Given the description of an element on the screen output the (x, y) to click on. 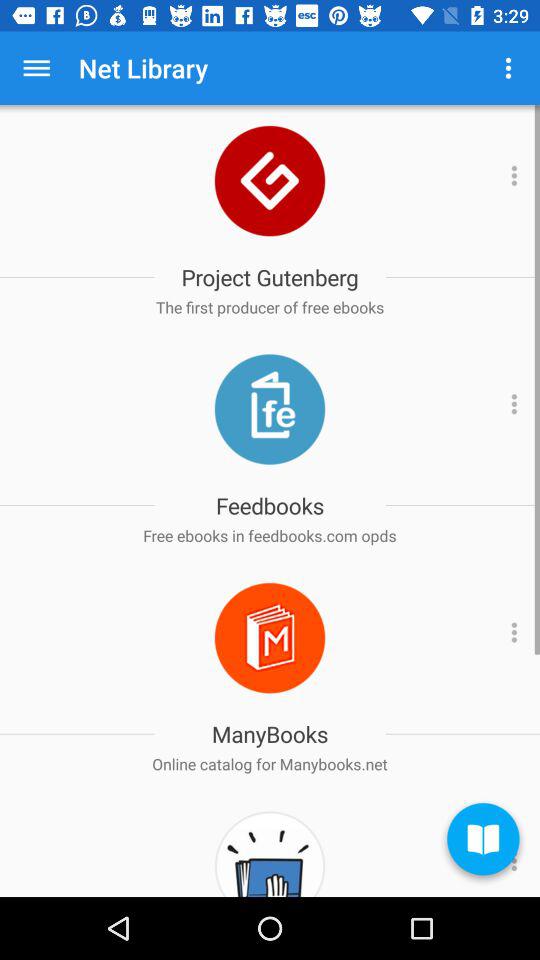
jump until the online catalog for icon (270, 763)
